Given the description of an element on the screen output the (x, y) to click on. 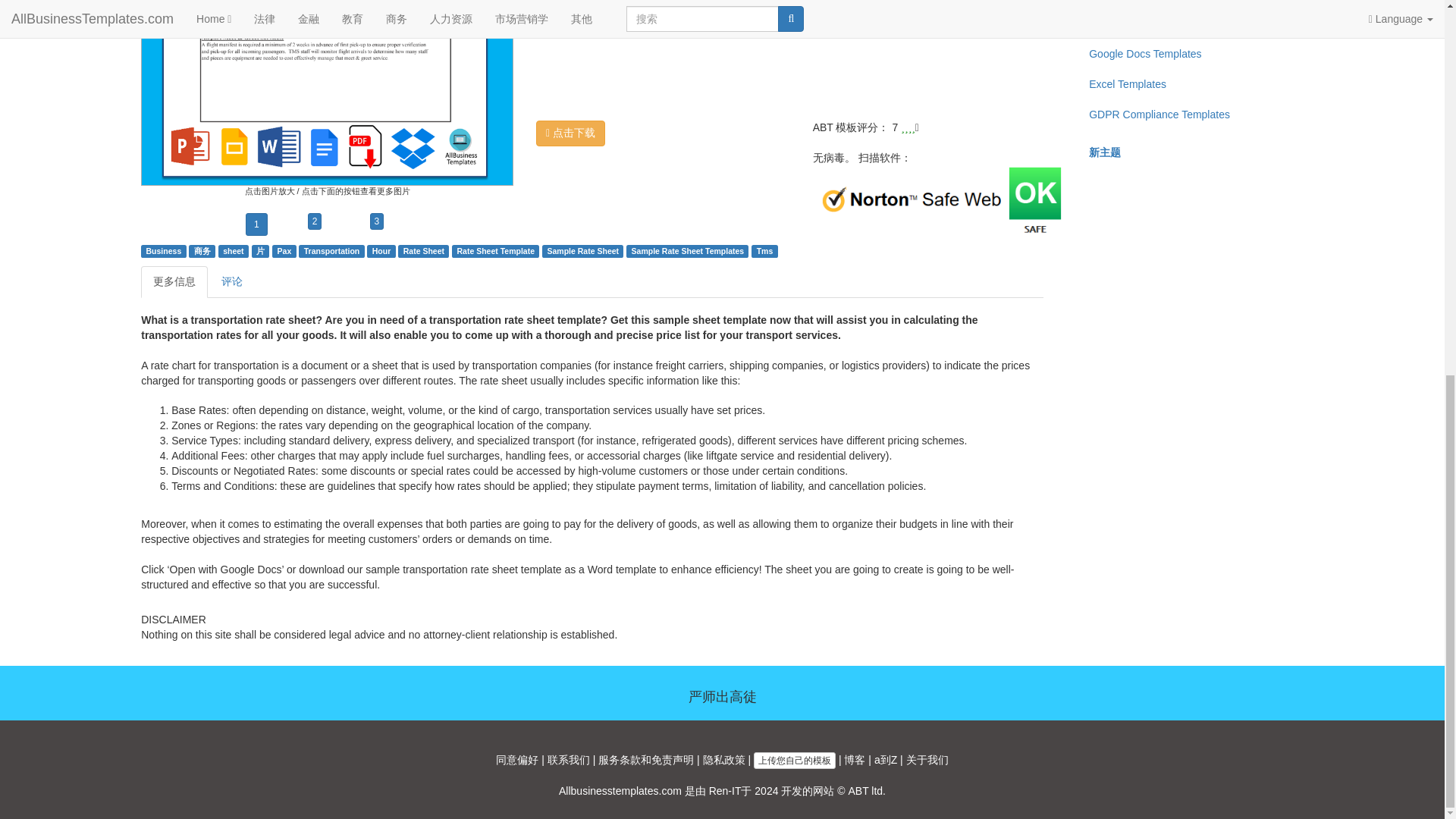
Sample Rate Sheet Templates (687, 250)
1 (256, 223)
Transportation (331, 250)
Tms (765, 250)
Pax (285, 250)
Rate Sheet Template (496, 250)
Sample Rate Sheet (583, 250)
Rate Sheet (423, 250)
Hour (381, 250)
sheet (232, 250)
